Given the description of an element on the screen output the (x, y) to click on. 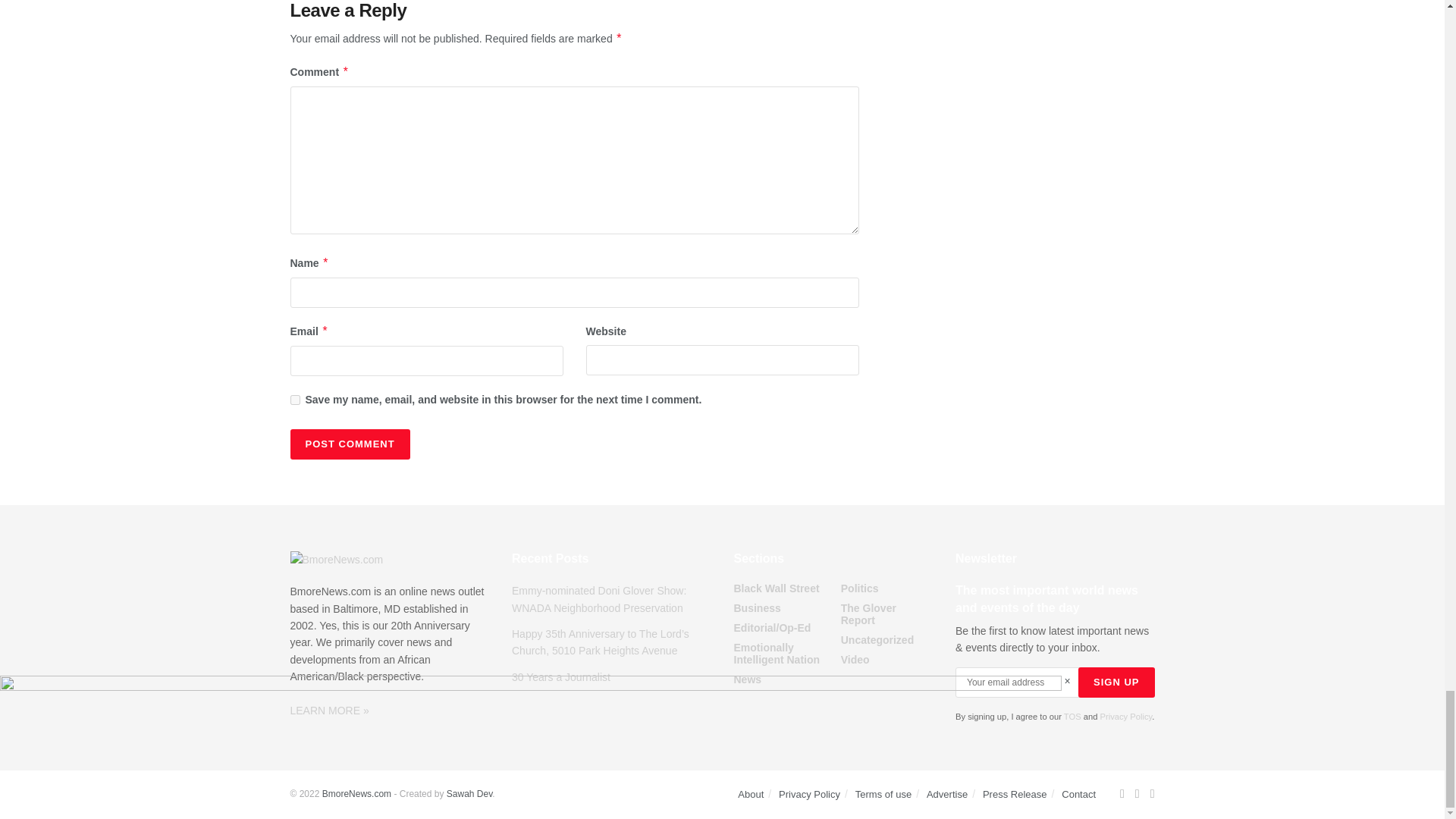
yes (294, 399)
Sign up (1116, 682)
Post Comment (349, 444)
